Given the description of an element on the screen output the (x, y) to click on. 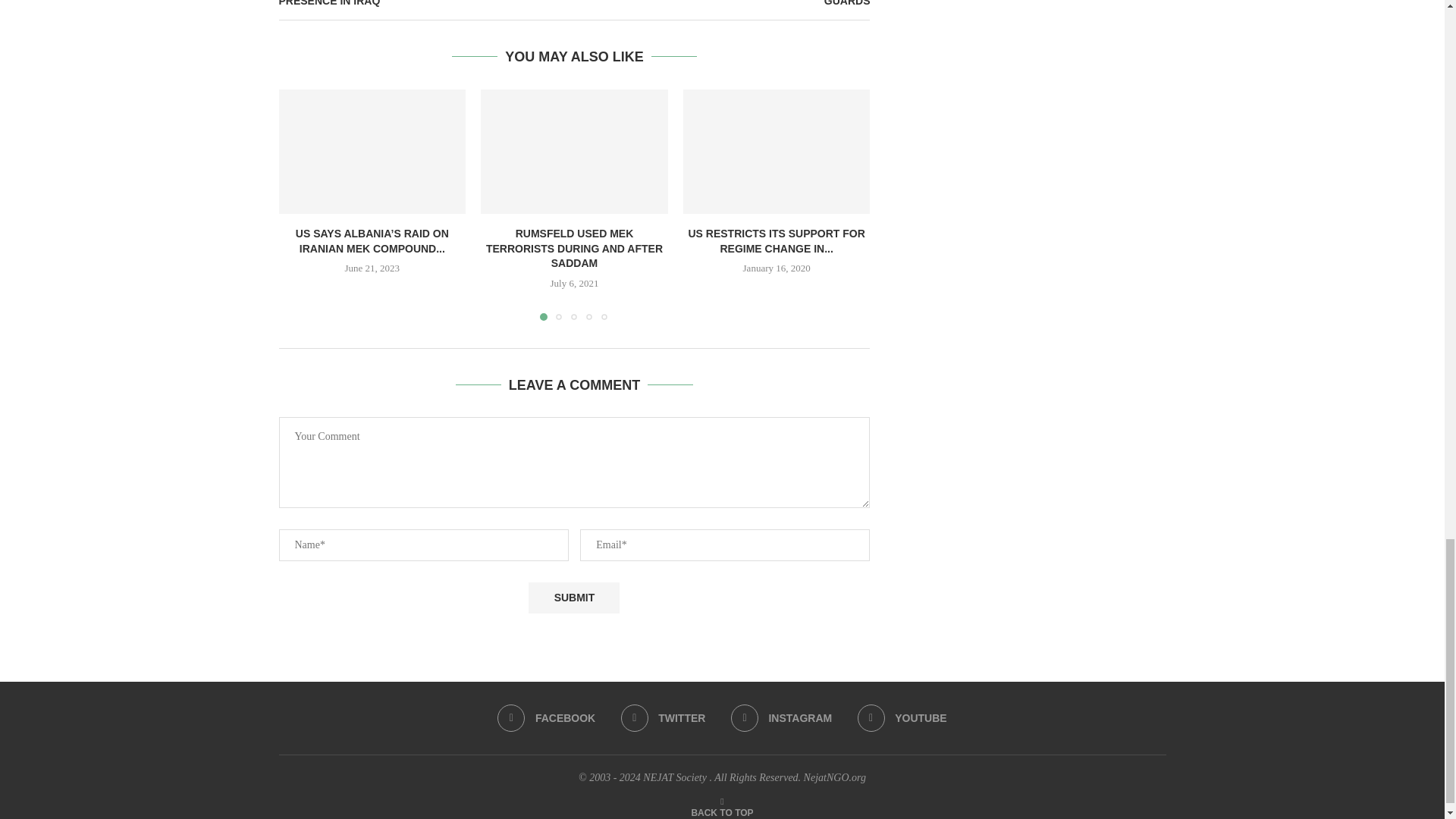
Rumsfeld Used MEK Terrorists During And After Saddam (574, 151)
Submit (574, 597)
